Given the description of an element on the screen output the (x, y) to click on. 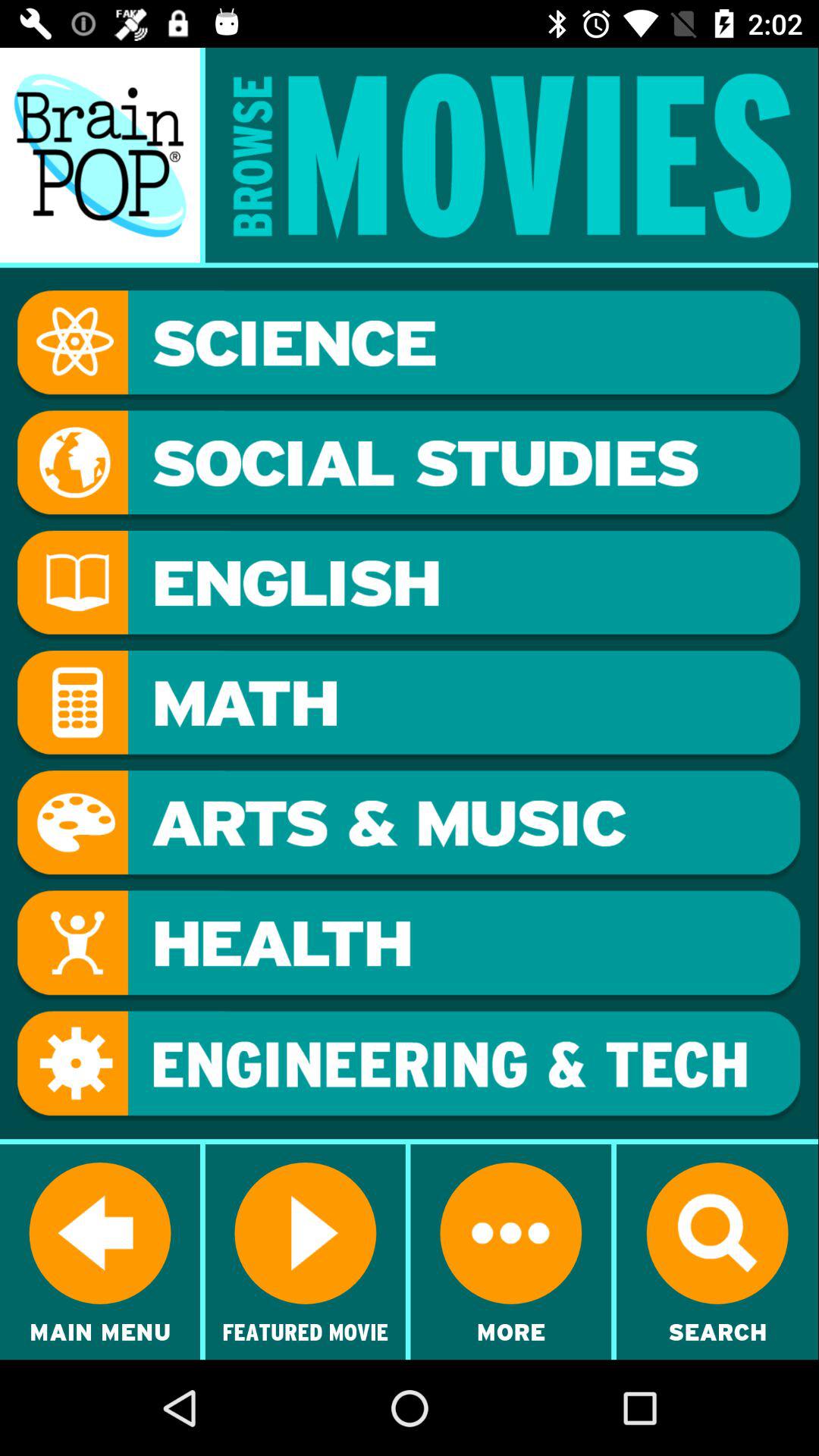
select health (408, 945)
